Given the description of an element on the screen output the (x, y) to click on. 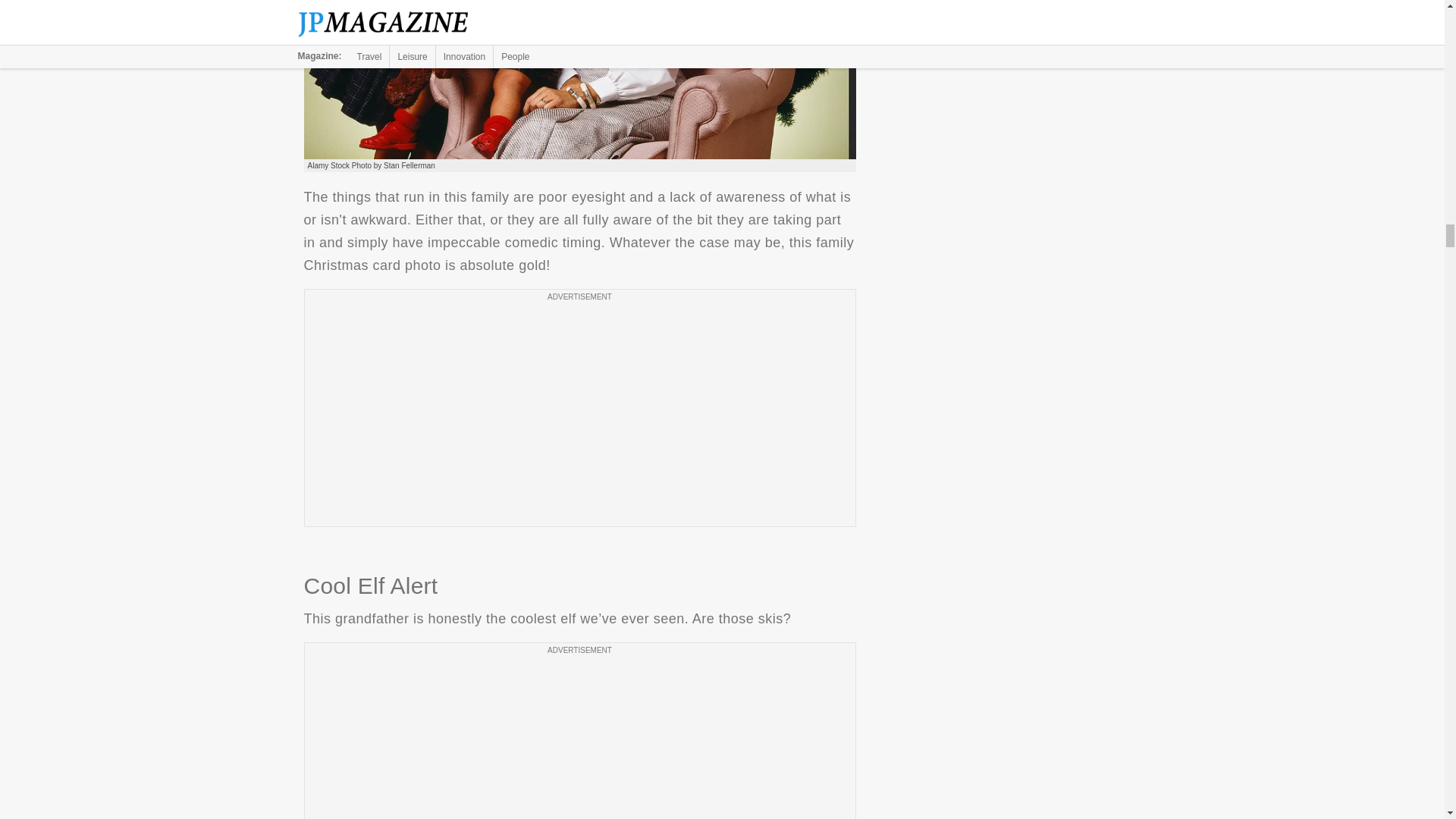
It Runs in the Family (579, 79)
